Given the description of an element on the screen output the (x, y) to click on. 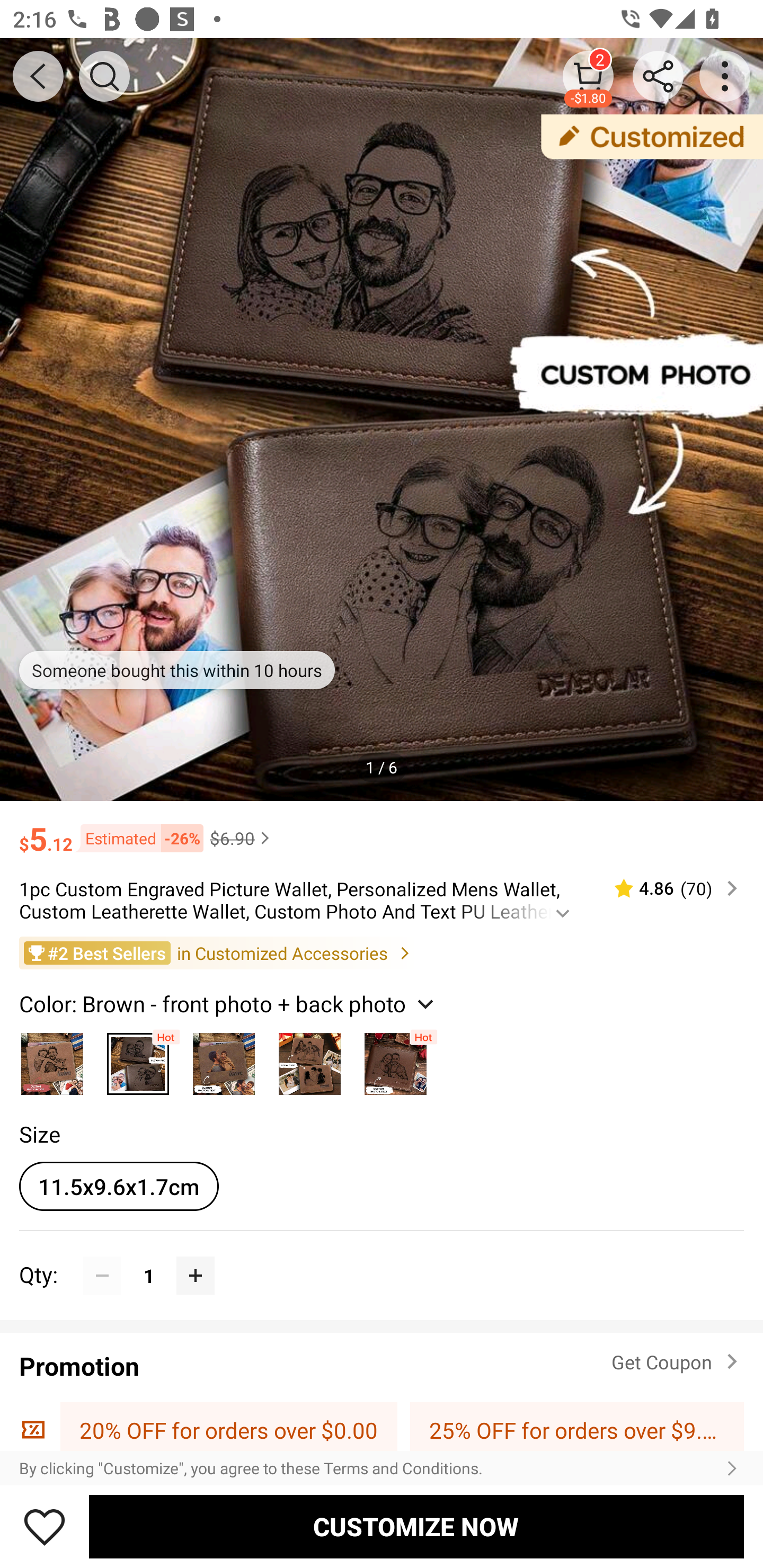
PHOTOS Someone bought this within 10 hours 1 / 6 (381, 419)
BACK (38, 75)
2 -$1.80 (588, 75)
1 / 6 (381, 766)
$5.12 Estimated -26% $6.90 (381, 830)
Estimated -26% (137, 838)
$6.90 (241, 837)
4.86 (70) (667, 887)
#2 Best Sellers in Customized Accessories (381, 952)
Color: Brown - front photo + back photo (228, 1003)
Brown - front photo + back photo (138, 1059)
Light brown - sketch photo + back photo (309, 1059)
Brown-front photo+Customized text on the back (395, 1059)
Size (39, 1134)
11.5x9.6x1.7cm 11.5x9.6x1.7cmselected option (118, 1185)
Qty: 1 (381, 1255)
CUSTOMIZE NOW (416, 1526)
Save (44, 1526)
